Given the description of an element on the screen output the (x, y) to click on. 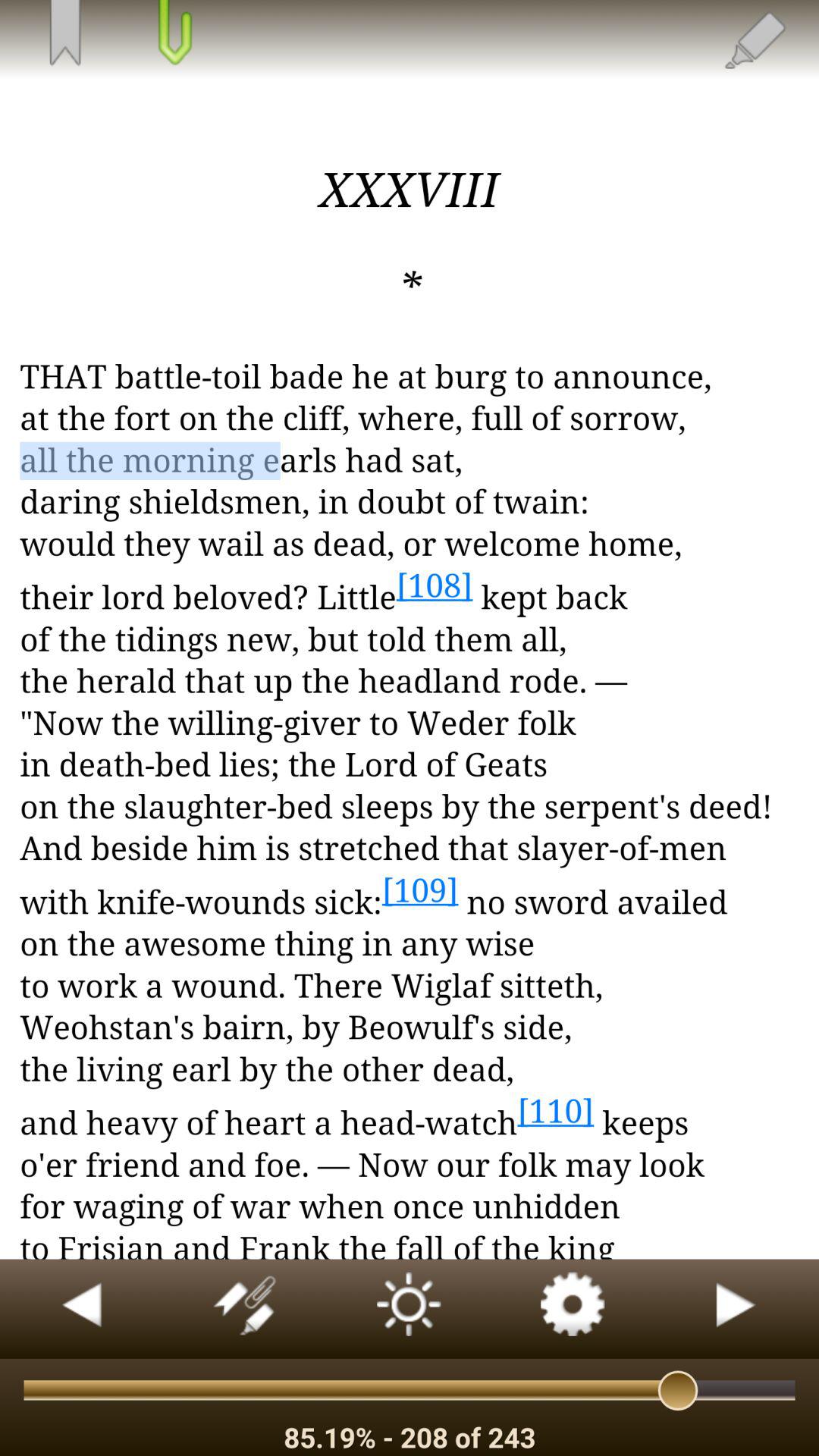
go back (81, 1308)
